Given the description of an element on the screen output the (x, y) to click on. 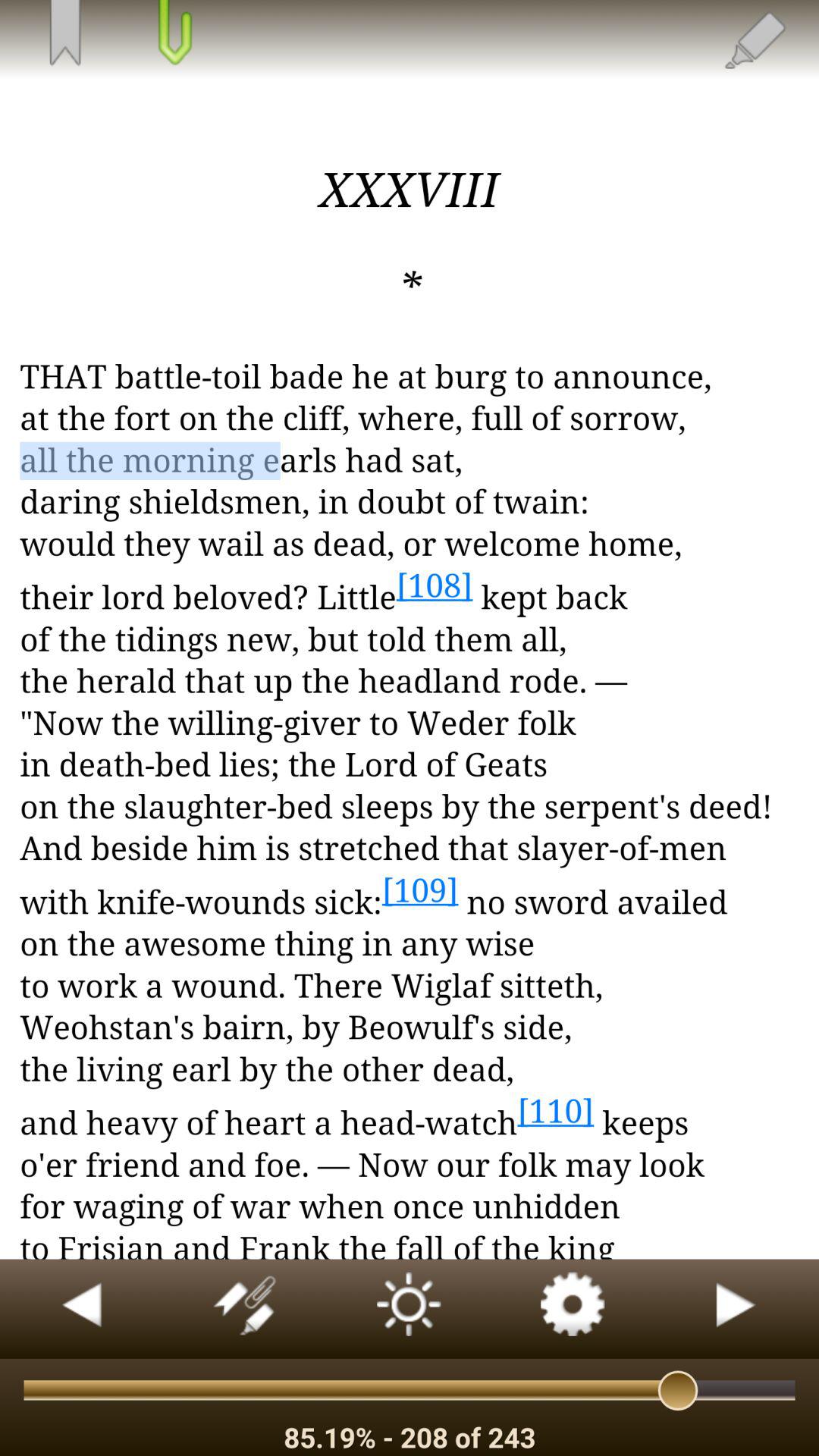
go back (81, 1308)
